Given the description of an element on the screen output the (x, y) to click on. 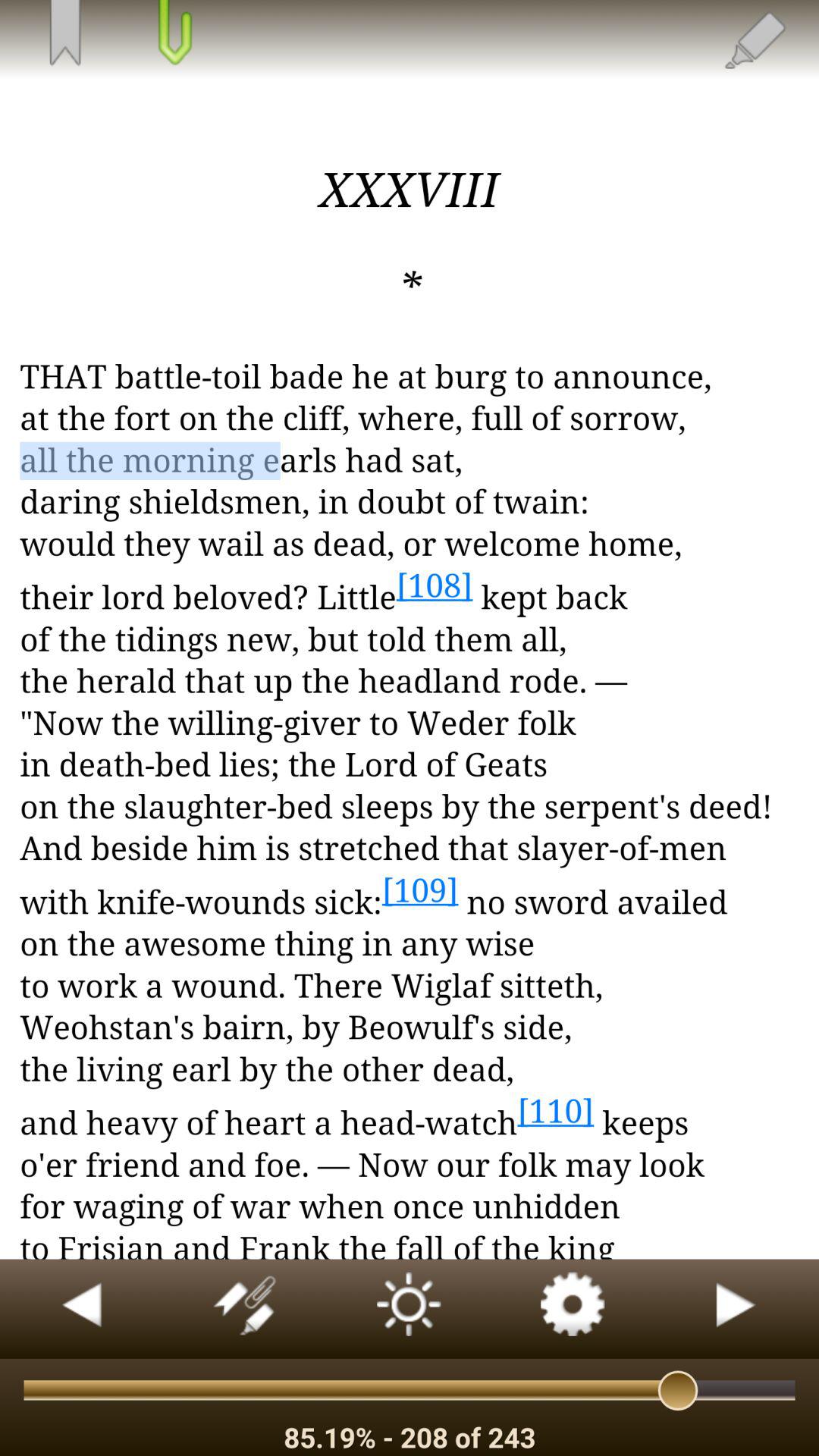
go back (81, 1308)
